Given the description of an element on the screen output the (x, y) to click on. 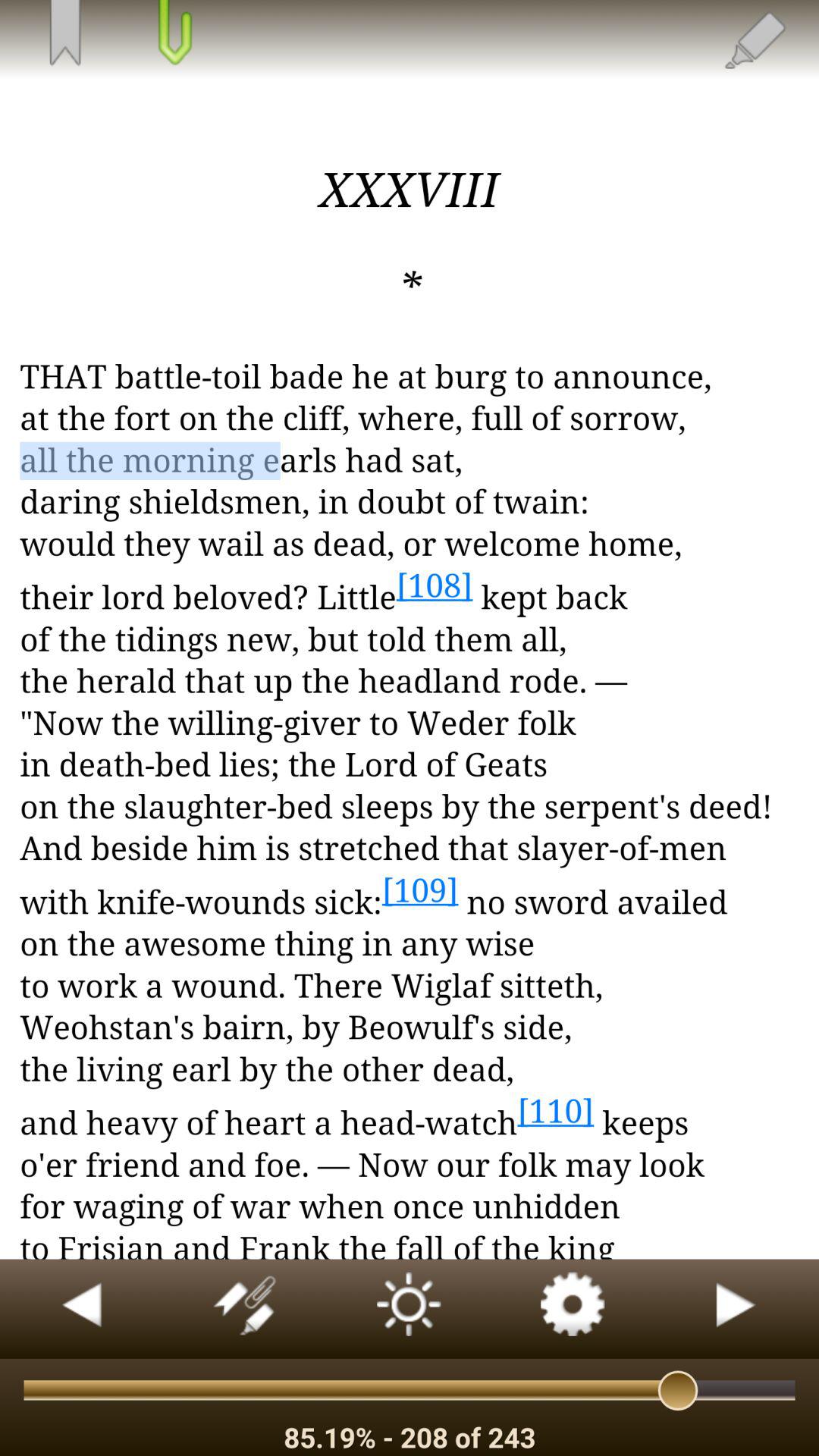
go back (81, 1308)
